Given the description of an element on the screen output the (x, y) to click on. 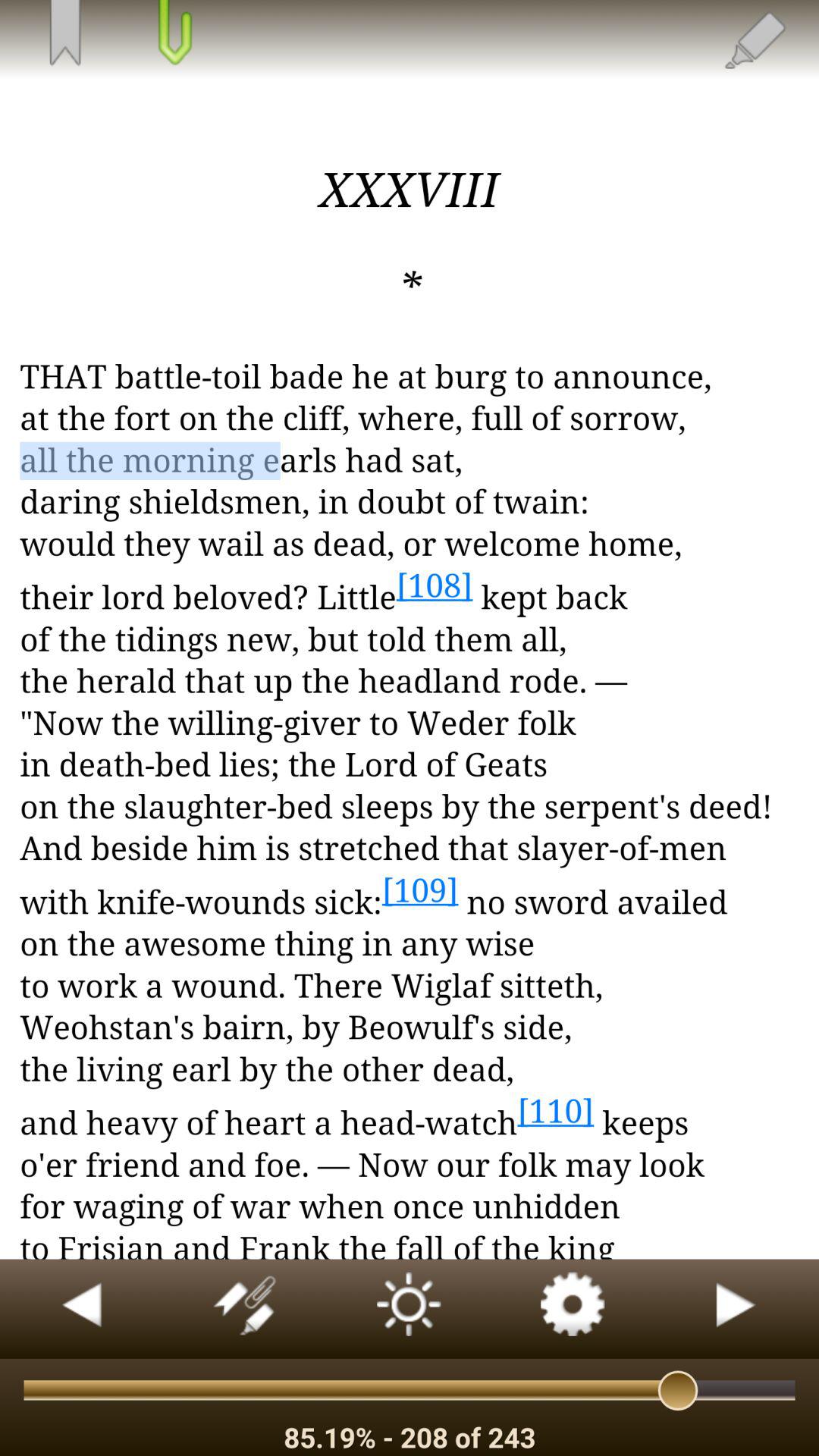
go back (81, 1308)
